Given the description of an element on the screen output the (x, y) to click on. 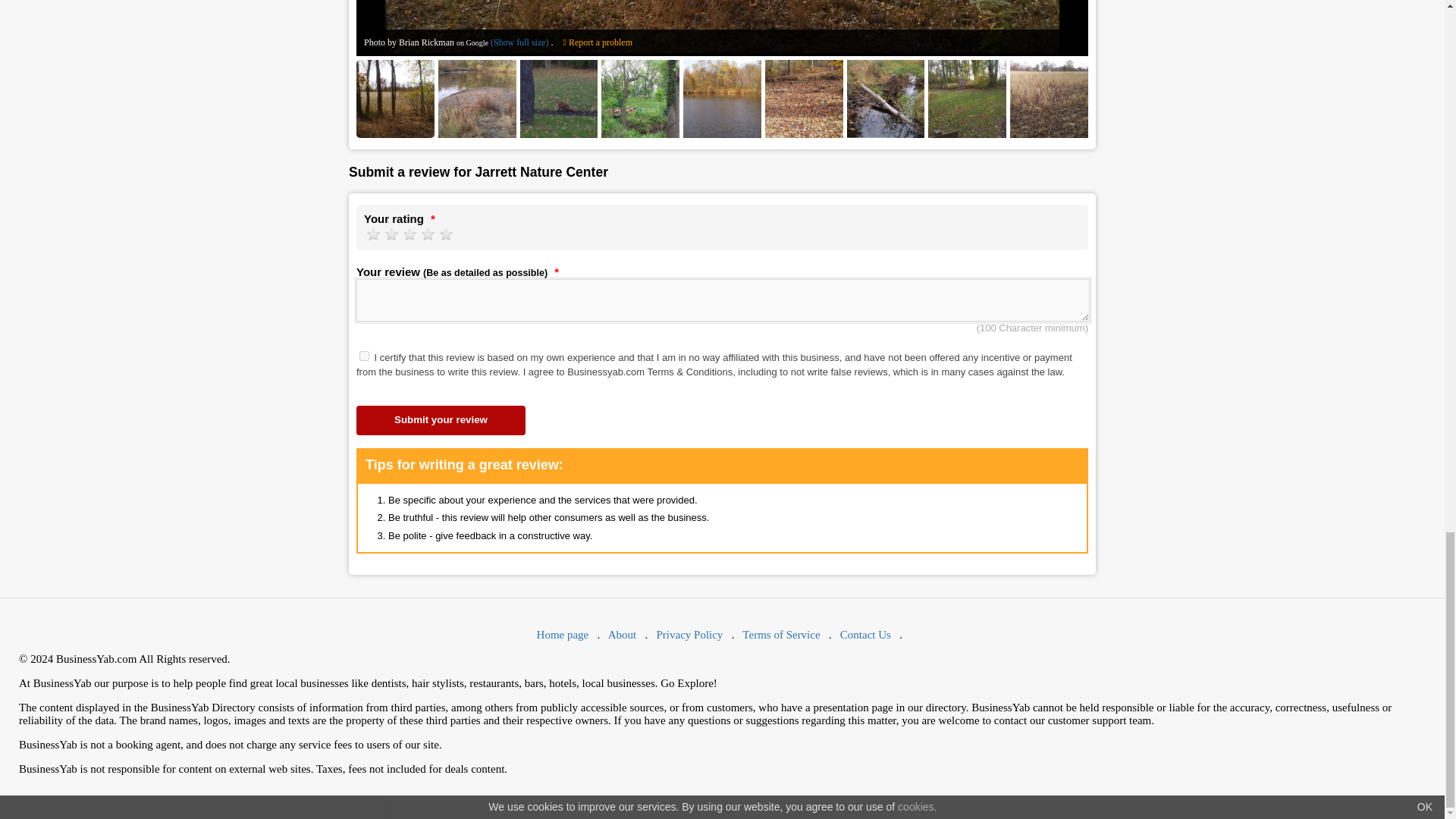
true (364, 356)
Submit your review (440, 419)
